Given the description of an element on the screen output the (x, y) to click on. 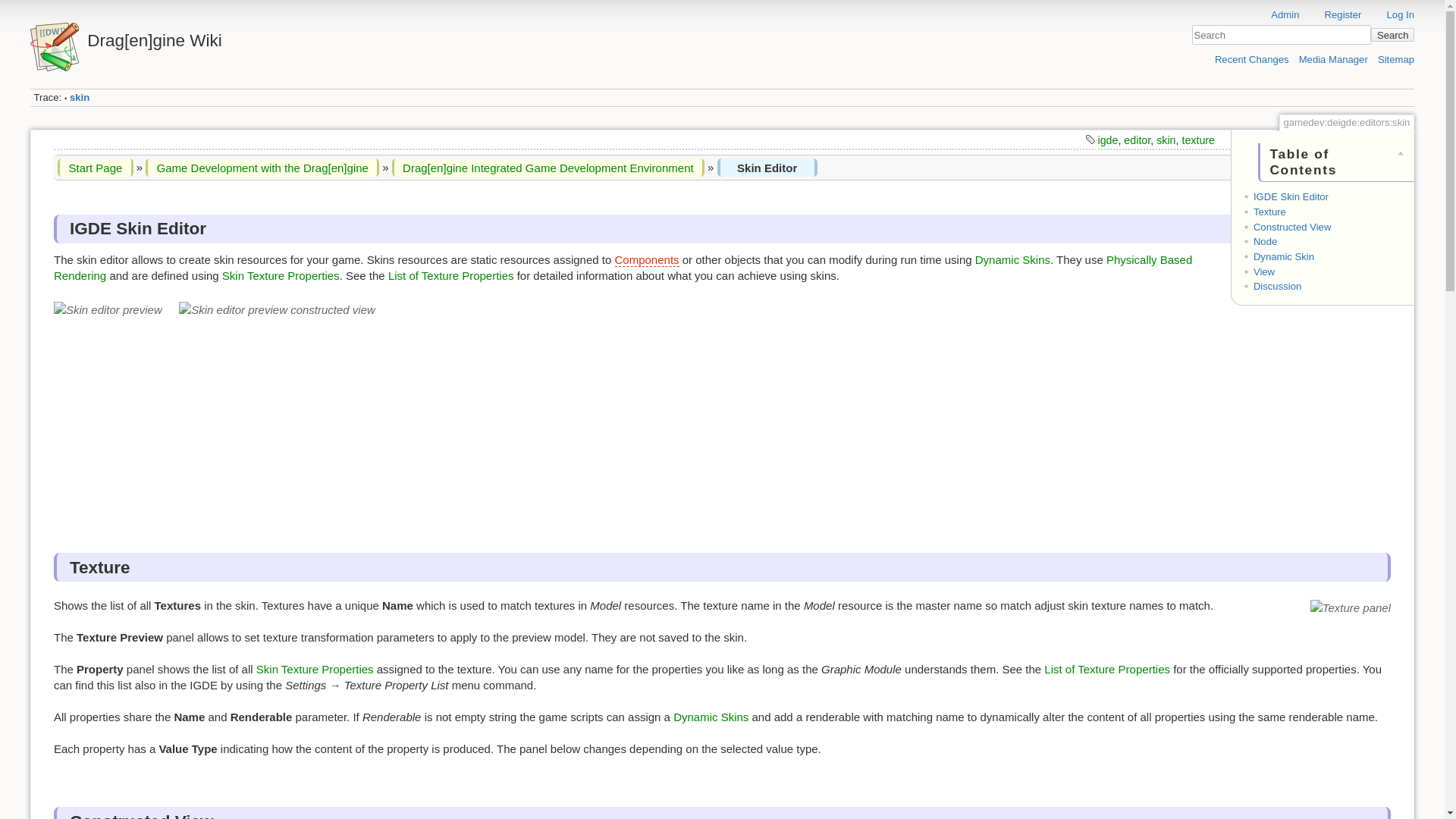
Texture (1269, 211)
Media Manager (1333, 59)
List of Texture Properties (450, 275)
List of Texture Properties (1106, 668)
Start Page (95, 167)
Components (646, 259)
tag:igde (1107, 140)
Back to top (1425, 238)
Node (1264, 241)
skin (78, 97)
Register (1334, 14)
Dynamic Skin (1283, 256)
Constructed View (1292, 226)
Skin Texture Properties (315, 668)
Backlinks (1425, 213)
